Given the description of an element on the screen output the (x, y) to click on. 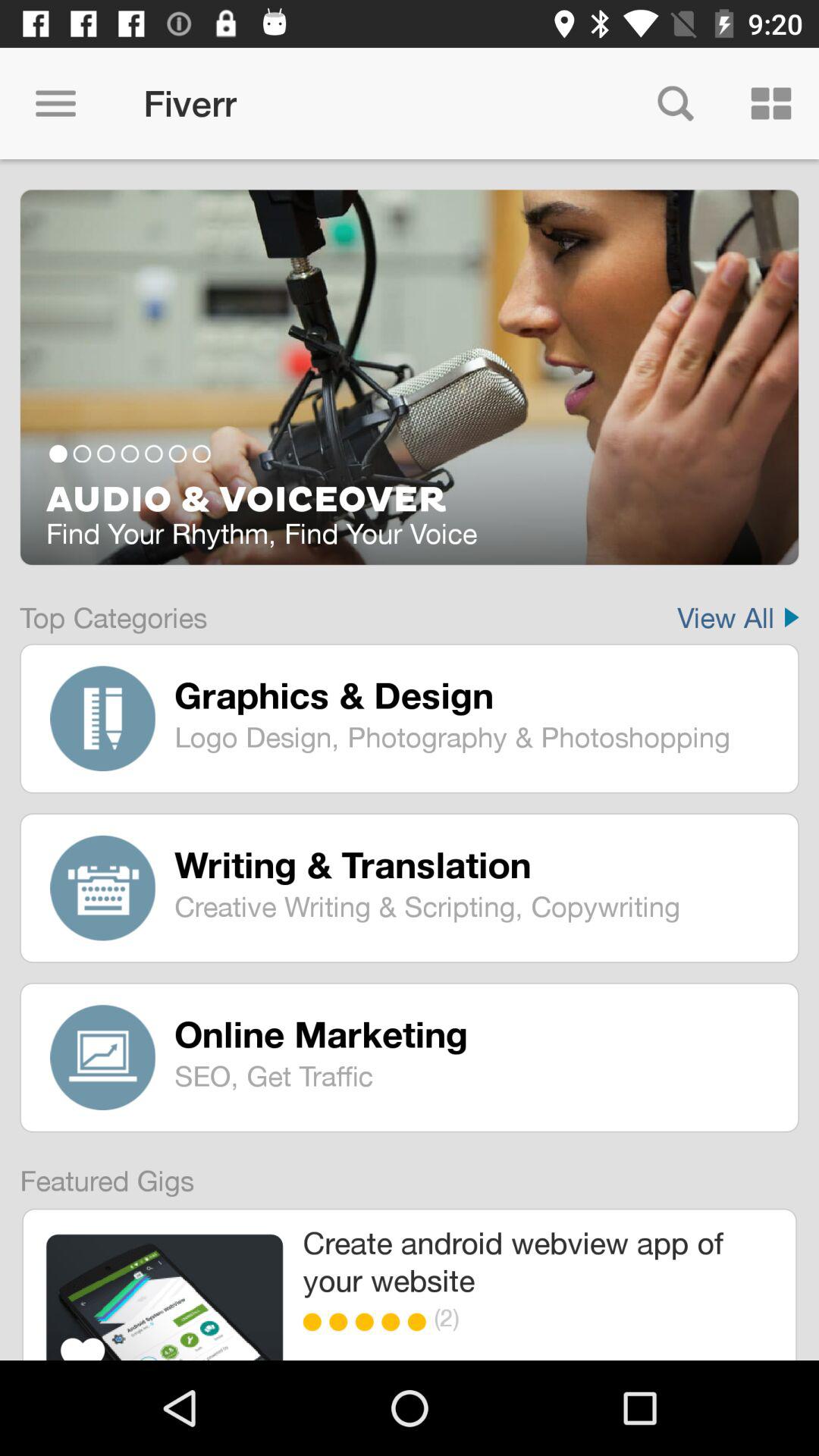
launch graphics & design icon (475, 694)
